Given the description of an element on the screen output the (x, y) to click on. 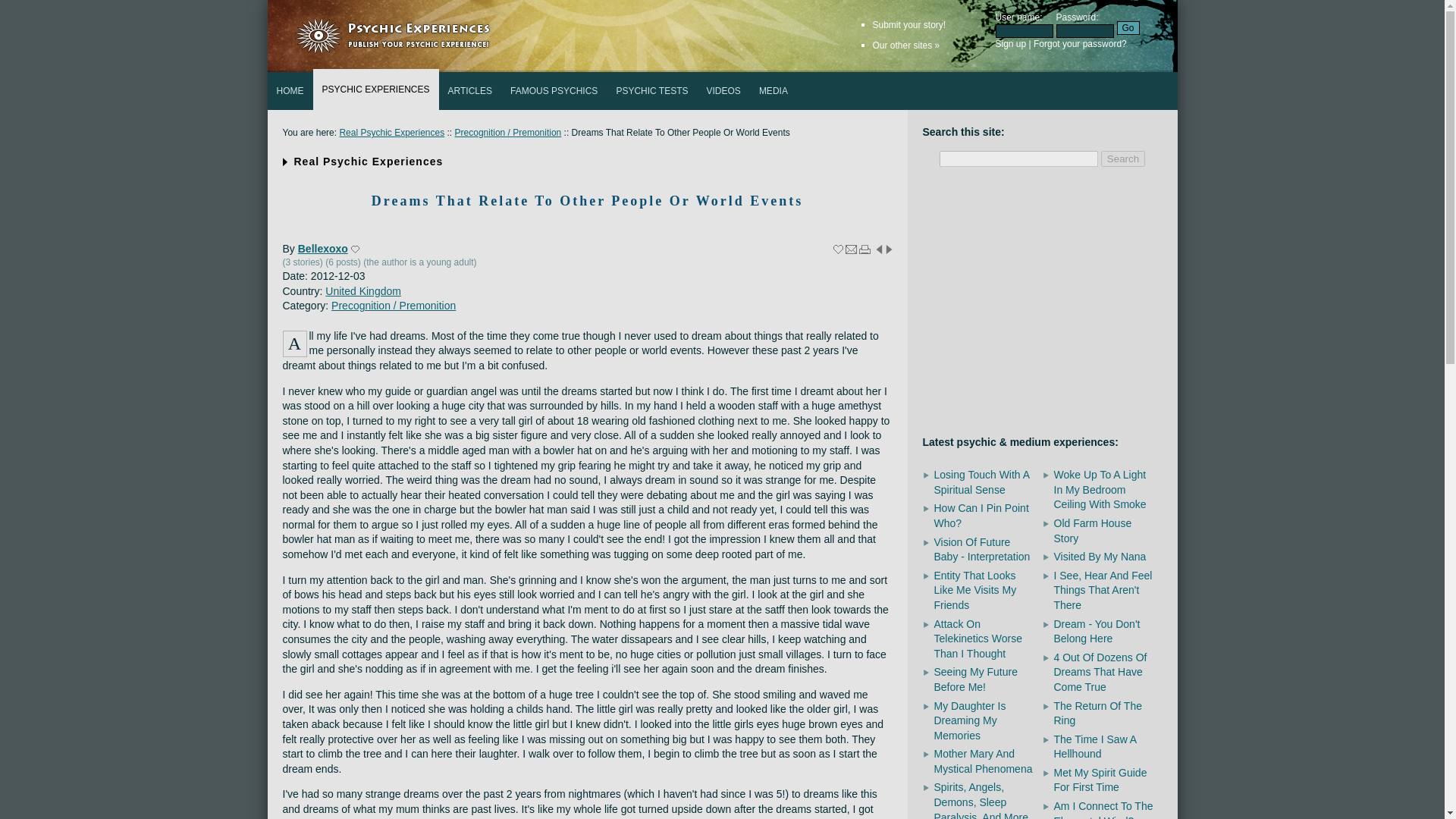
Print this story (864, 248)
Add to your favorite stories (837, 248)
Go (1127, 28)
ARTICLES (469, 90)
PSYCHIC EXPERIENCES (375, 88)
Submit your story! (908, 24)
Add Bellexoxo to your favorite people (354, 248)
Real Psychic Experiences (391, 132)
Search (1122, 158)
Bellexoxo (322, 248)
